Given the description of an element on the screen output the (x, y) to click on. 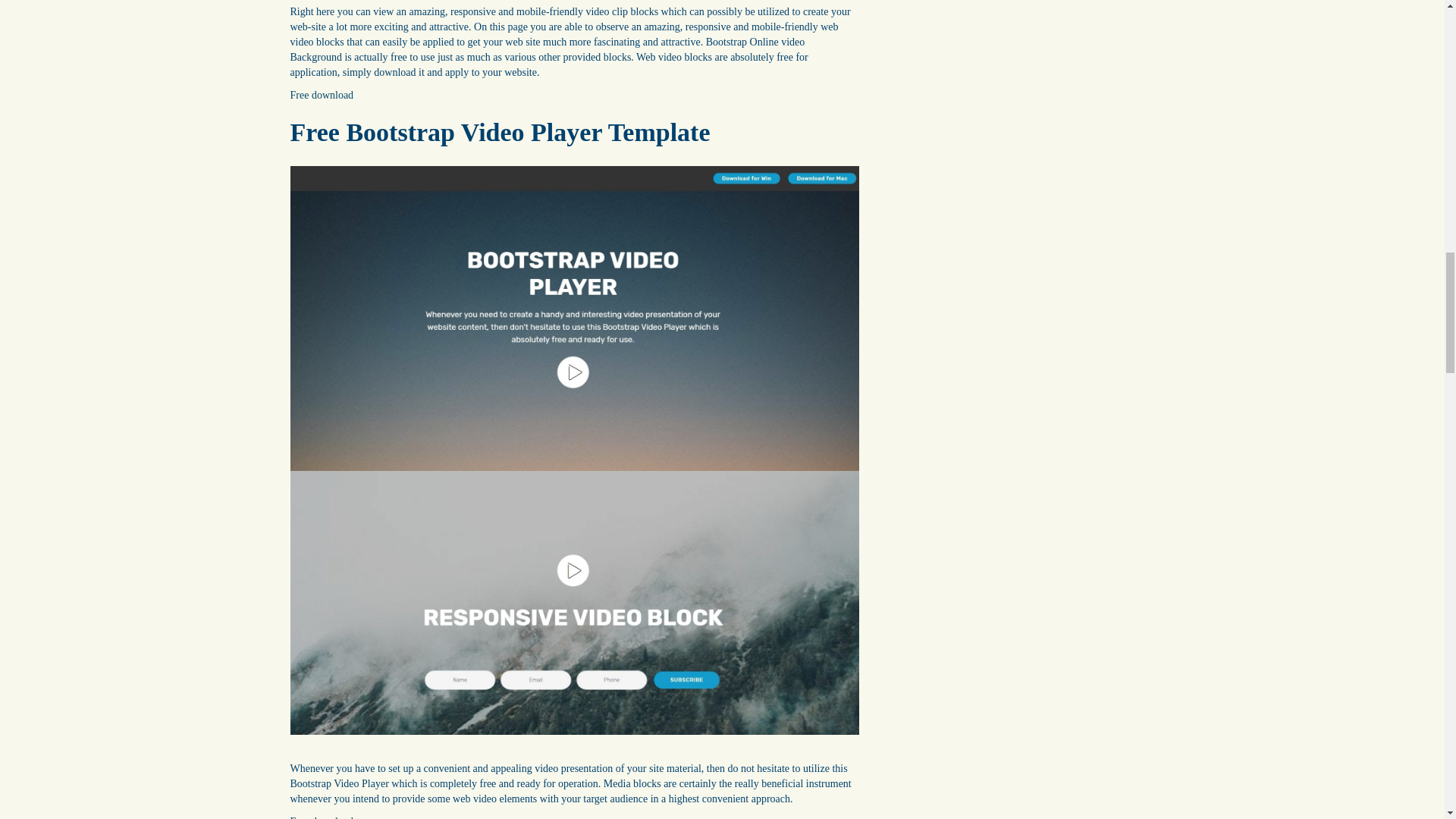
Free download (321, 817)
Free download (321, 94)
